Given the description of an element on the screen output the (x, y) to click on. 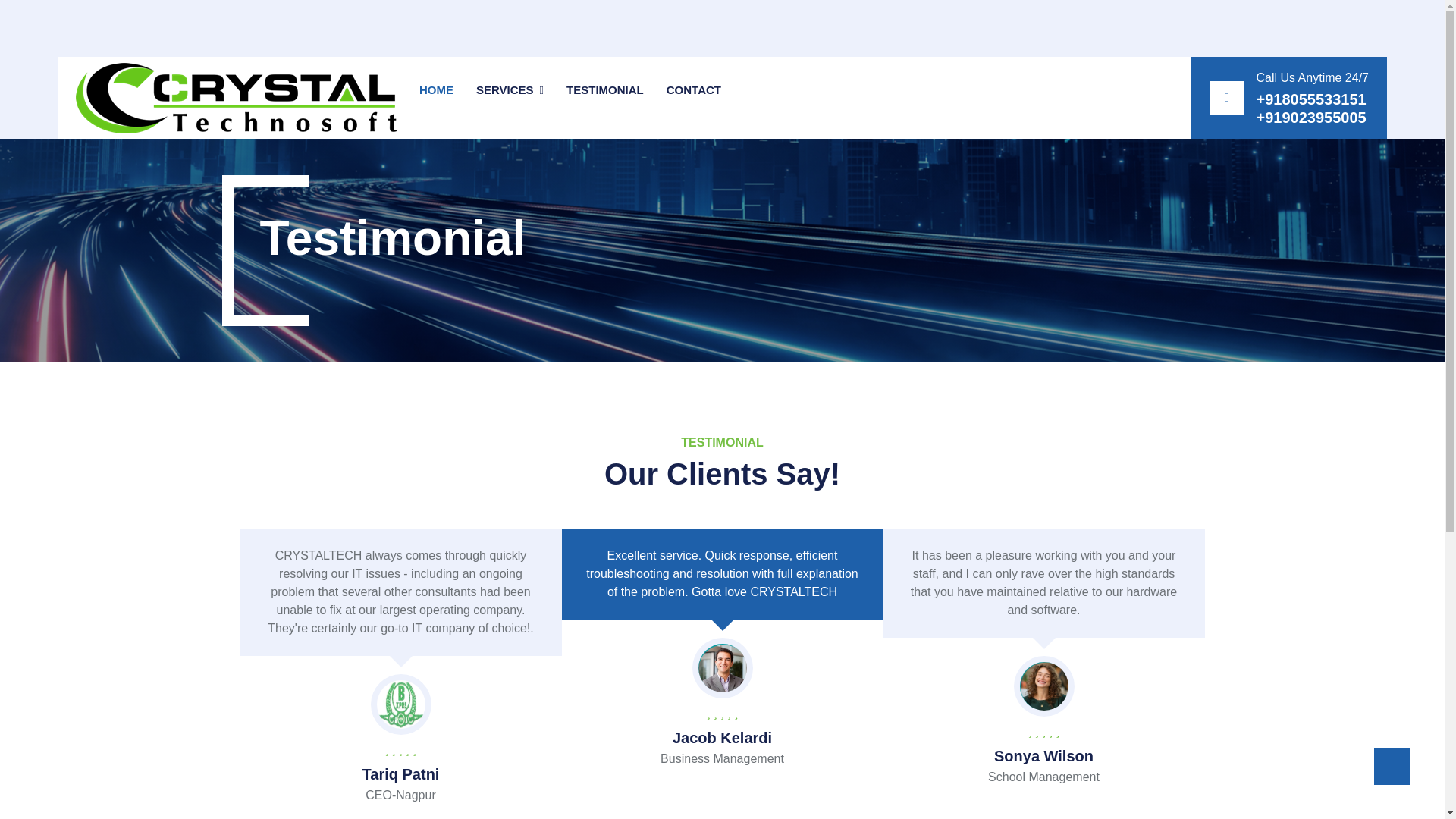
SERVICES (509, 89)
TESTIMONIAL (604, 97)
